Given the description of an element on the screen output the (x, y) to click on. 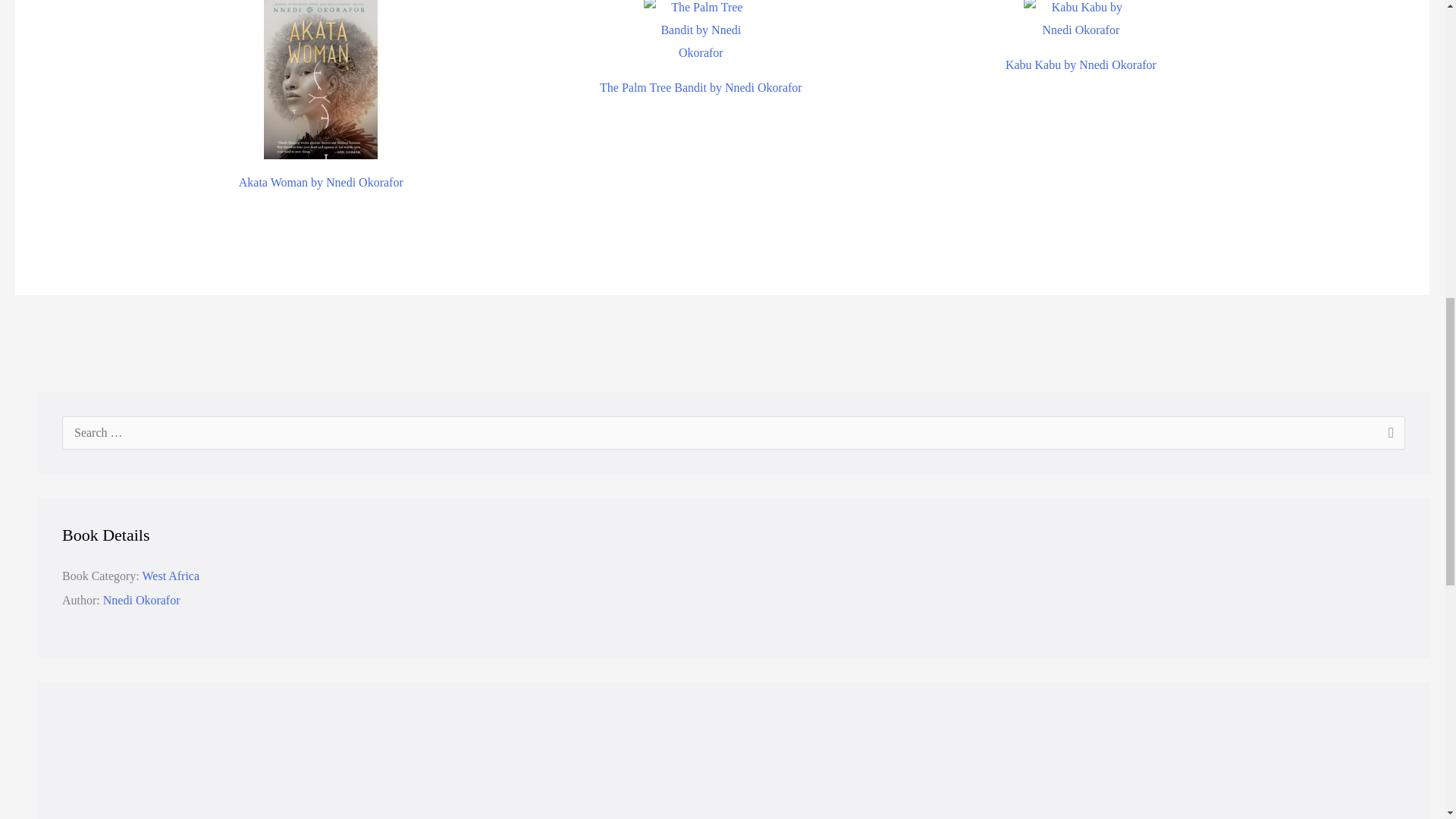
Kabu Kabu by Nnedi Okorafor (1081, 44)
West Africa (170, 575)
Akata Woman by Nnedi Okorafor (320, 132)
The Palm Tree Bandit by Nnedi Okorafor (700, 61)
Nnedi Okorafor (141, 599)
Akata Woman by Nnedi Okorafor (320, 132)
Kabu Kabu by Nnedi Okorafor (1081, 44)
The Palm Tree Bandit by Nnedi Okorafor (700, 61)
